Given the description of an element on the screen output the (x, y) to click on. 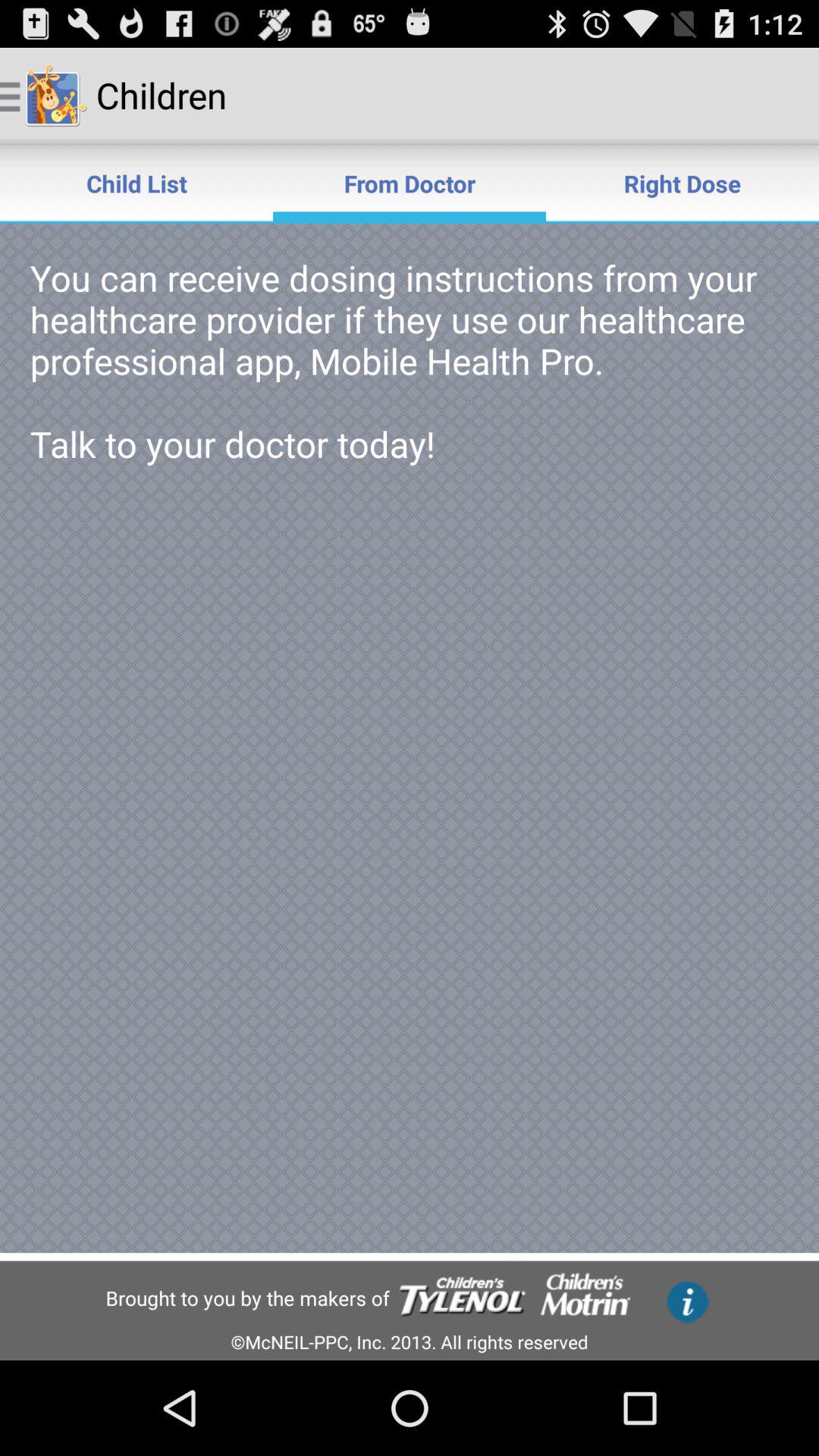
turn on item to the right of the from doctor item (682, 183)
